Given the description of an element on the screen output the (x, y) to click on. 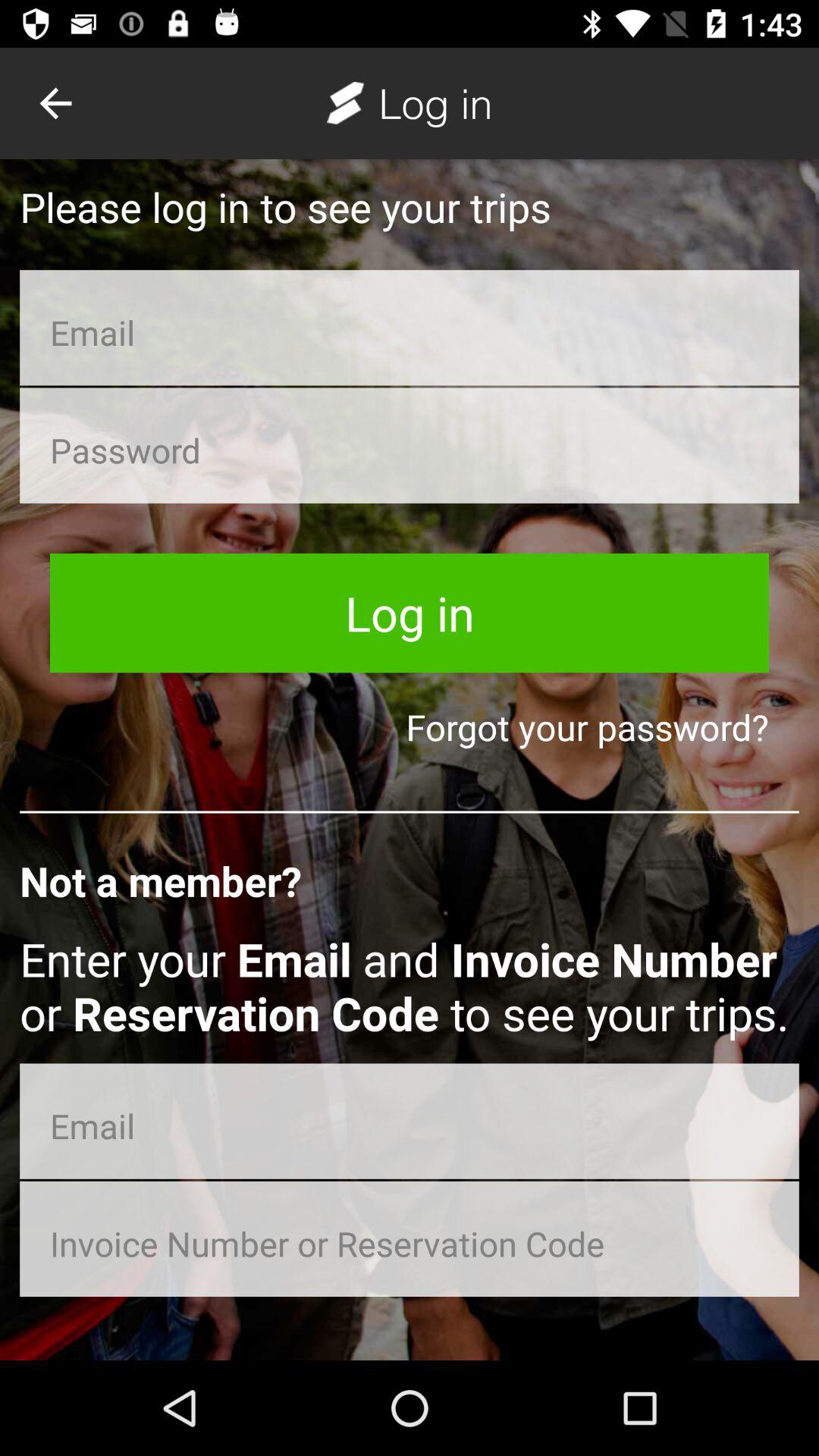
insert valid email adress (409, 327)
